Given the description of an element on the screen output the (x, y) to click on. 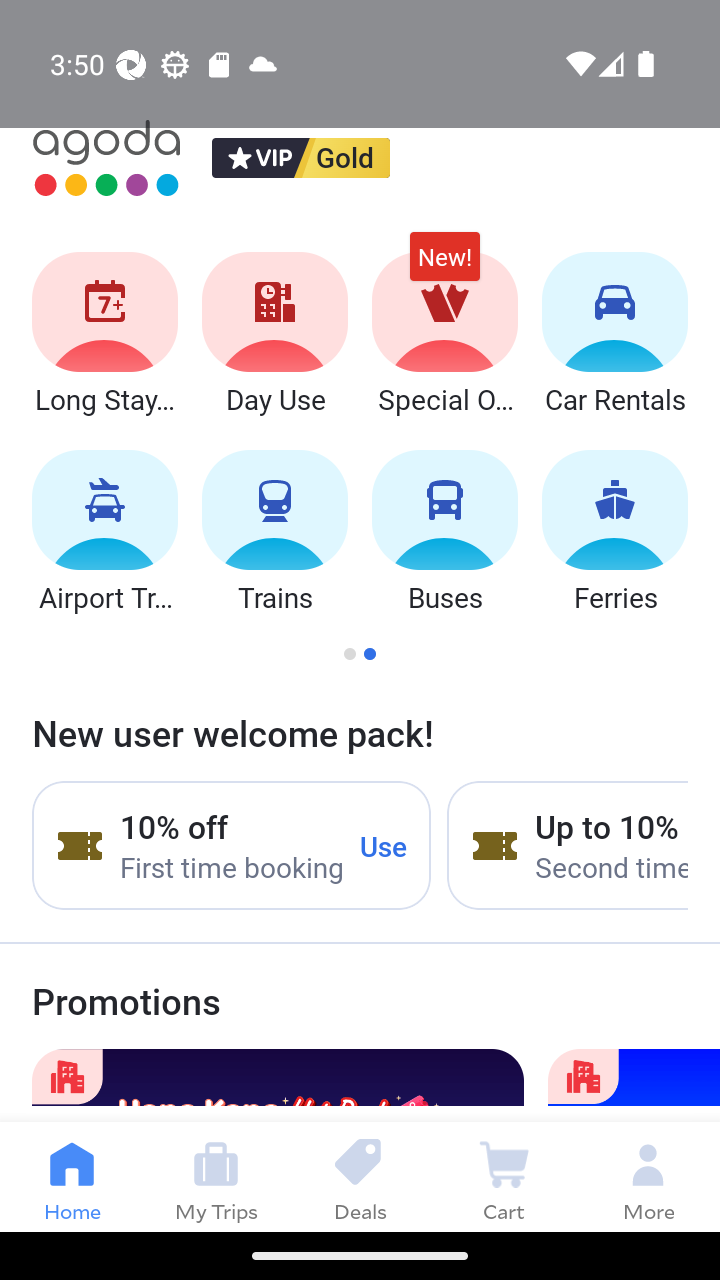
New! (444, 265)
Use (384, 845)
Home (72, 1176)
My Trips (216, 1176)
Deals (360, 1176)
Cart (504, 1176)
More (648, 1176)
